Given the description of an element on the screen output the (x, y) to click on. 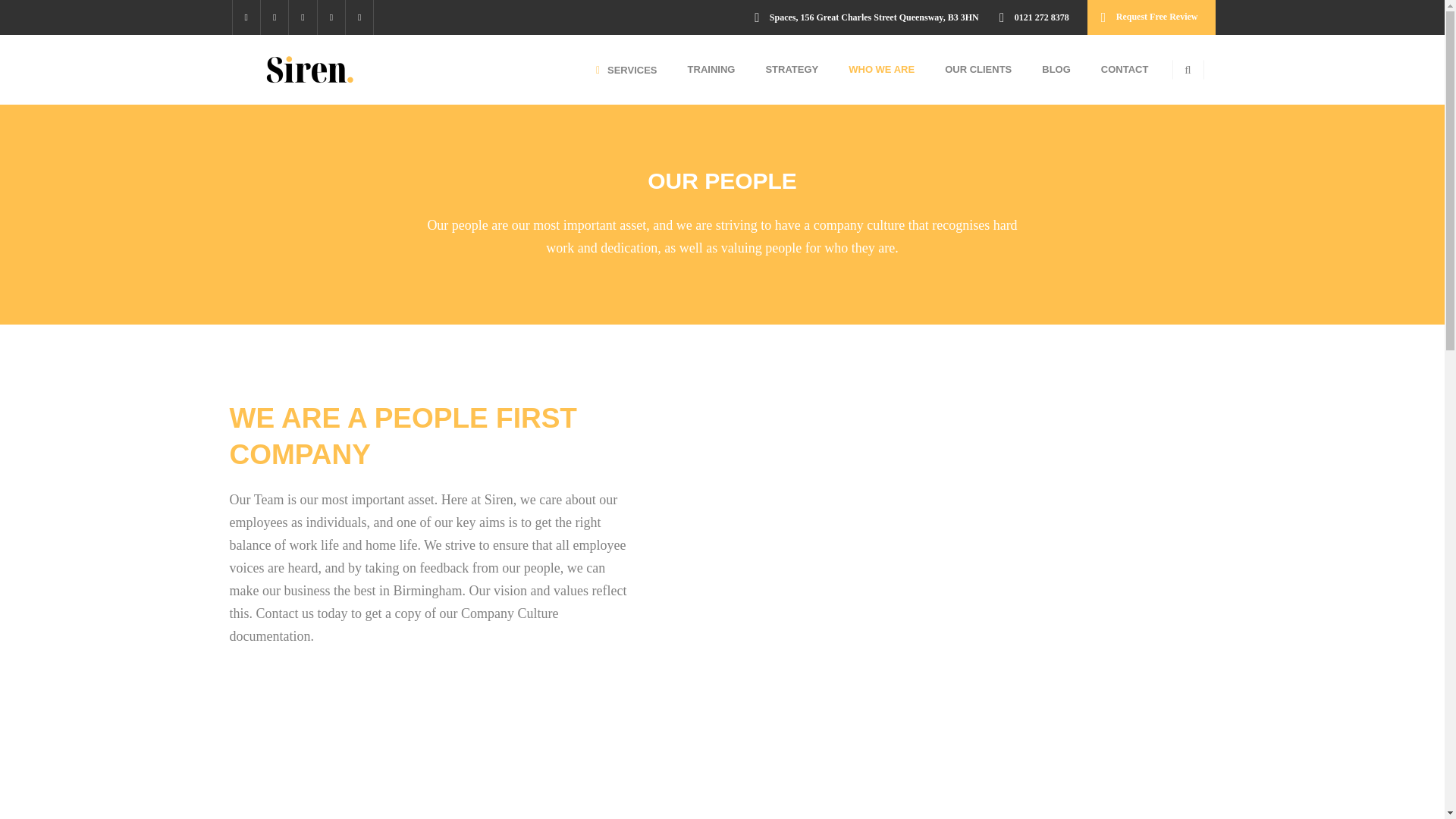
SERVICES (626, 69)
TRAINING (711, 69)
Request Free Review (1151, 17)
STRATEGY (790, 69)
